Given the description of an element on the screen output the (x, y) to click on. 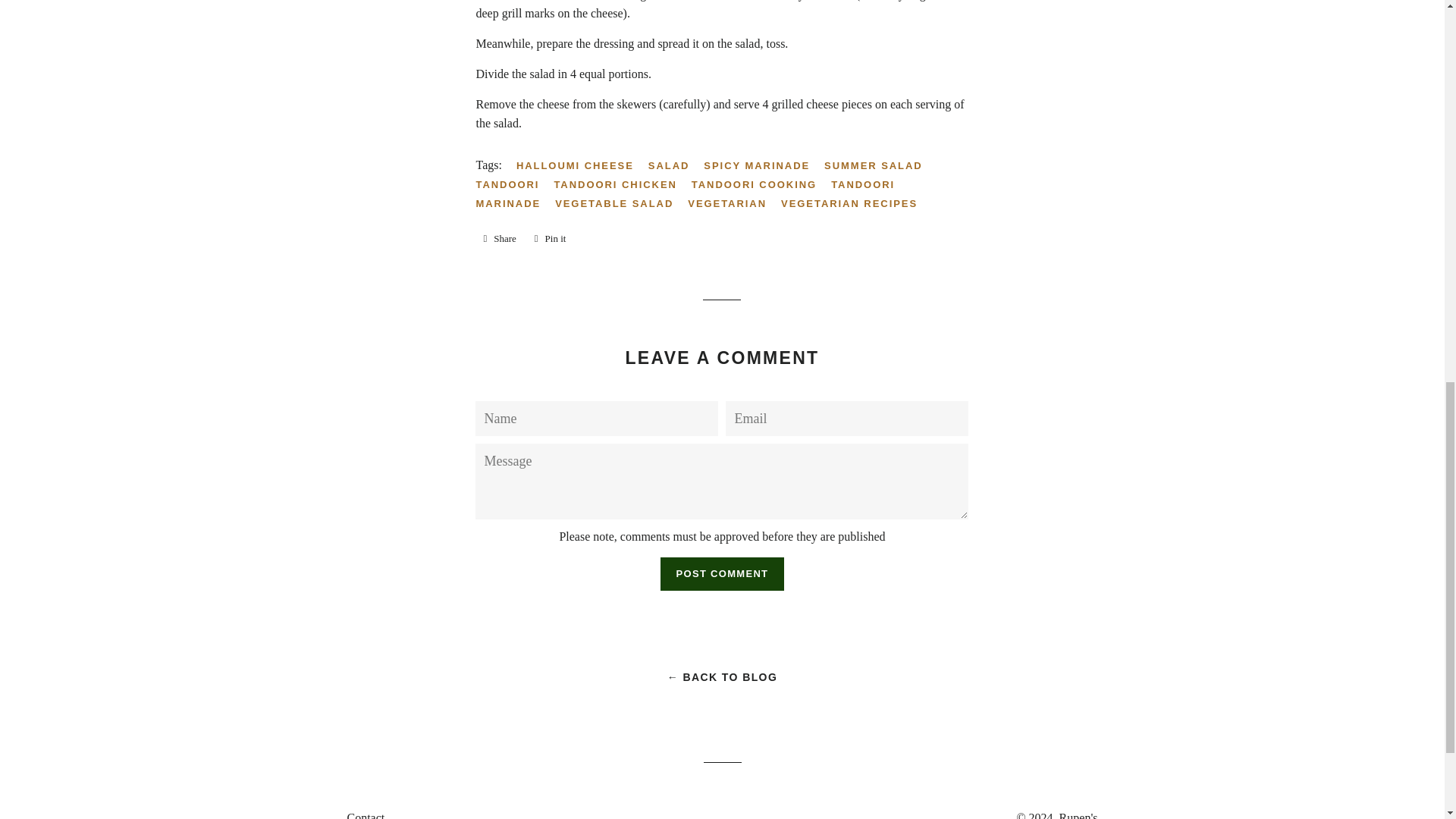
Pin on Pinterest (550, 238)
Share on Facebook (499, 238)
Post comment (722, 573)
